Given the description of an element on the screen output the (x, y) to click on. 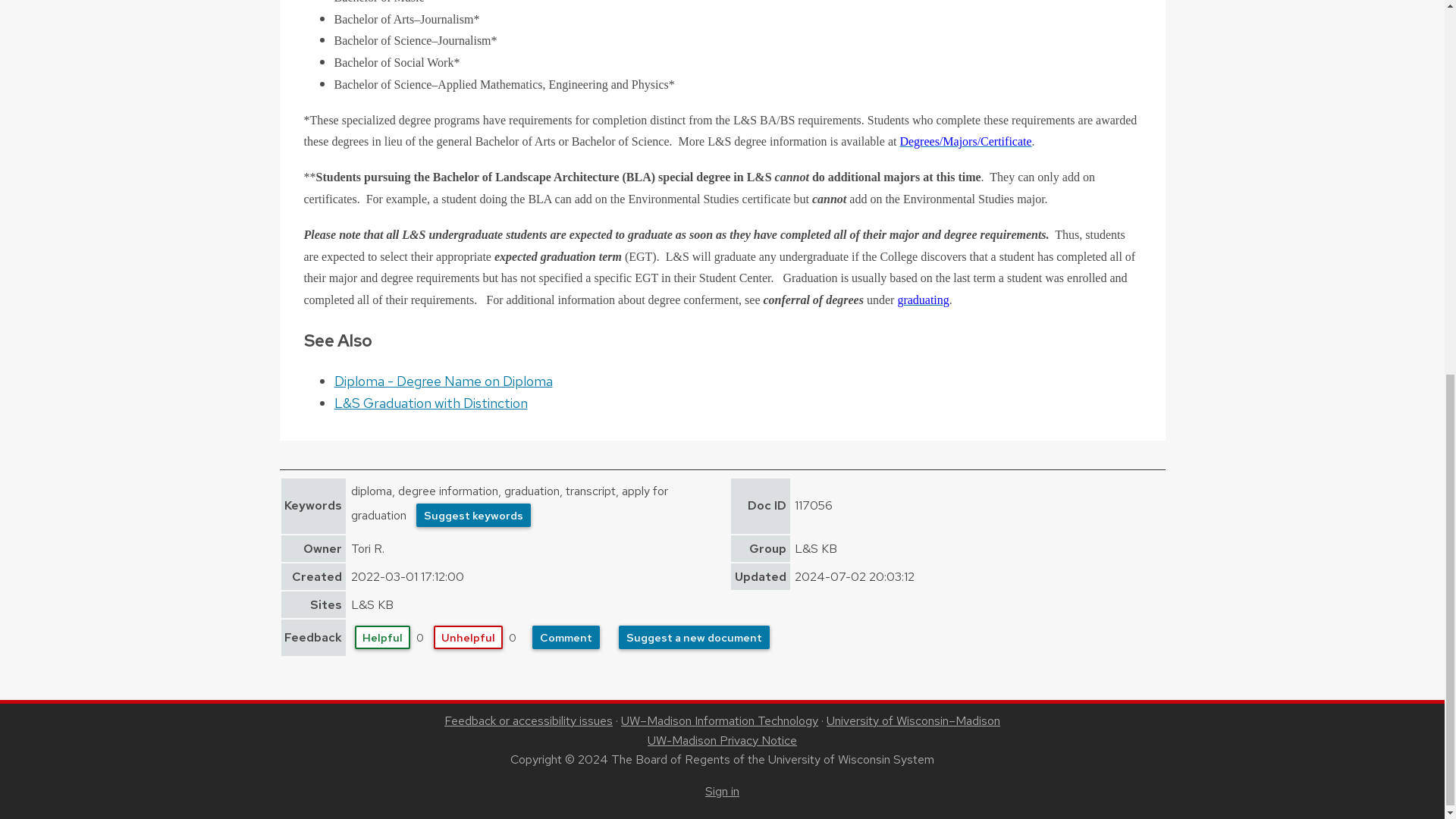
Feedback or accessibility issues (528, 720)
Suggest keywords (473, 515)
Diploma - Degree Name on Diploma (442, 380)
Unhelpful (467, 637)
Helpful (382, 637)
UW-Madison Privacy Notice (721, 740)
graduating (922, 299)
Comment (565, 637)
Sign in (721, 790)
Suggest a new document (694, 637)
